Given the description of an element on the screen output the (x, y) to click on. 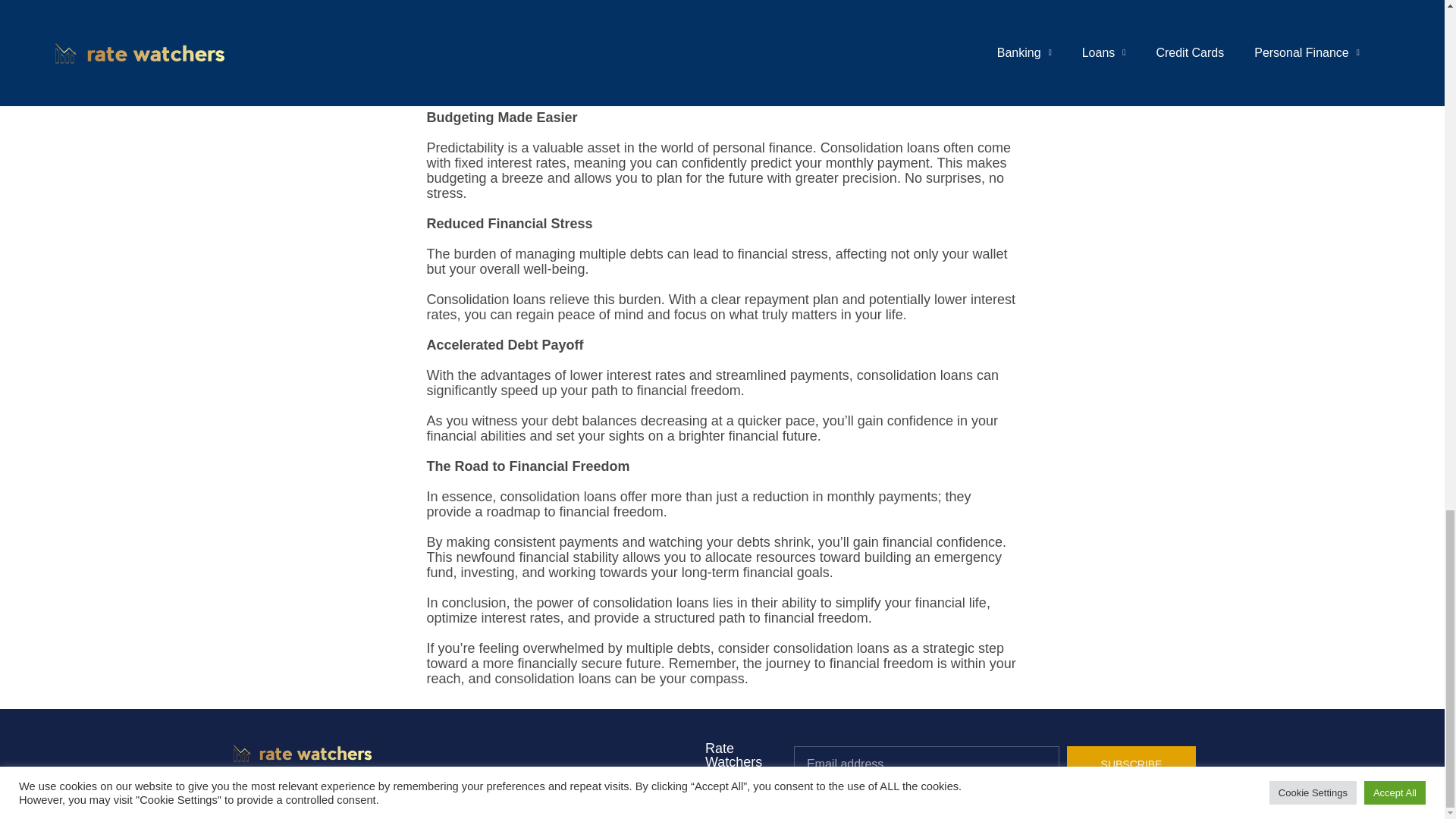
SUBSCRIBE (1131, 764)
